Given the description of an element on the screen output the (x, y) to click on. 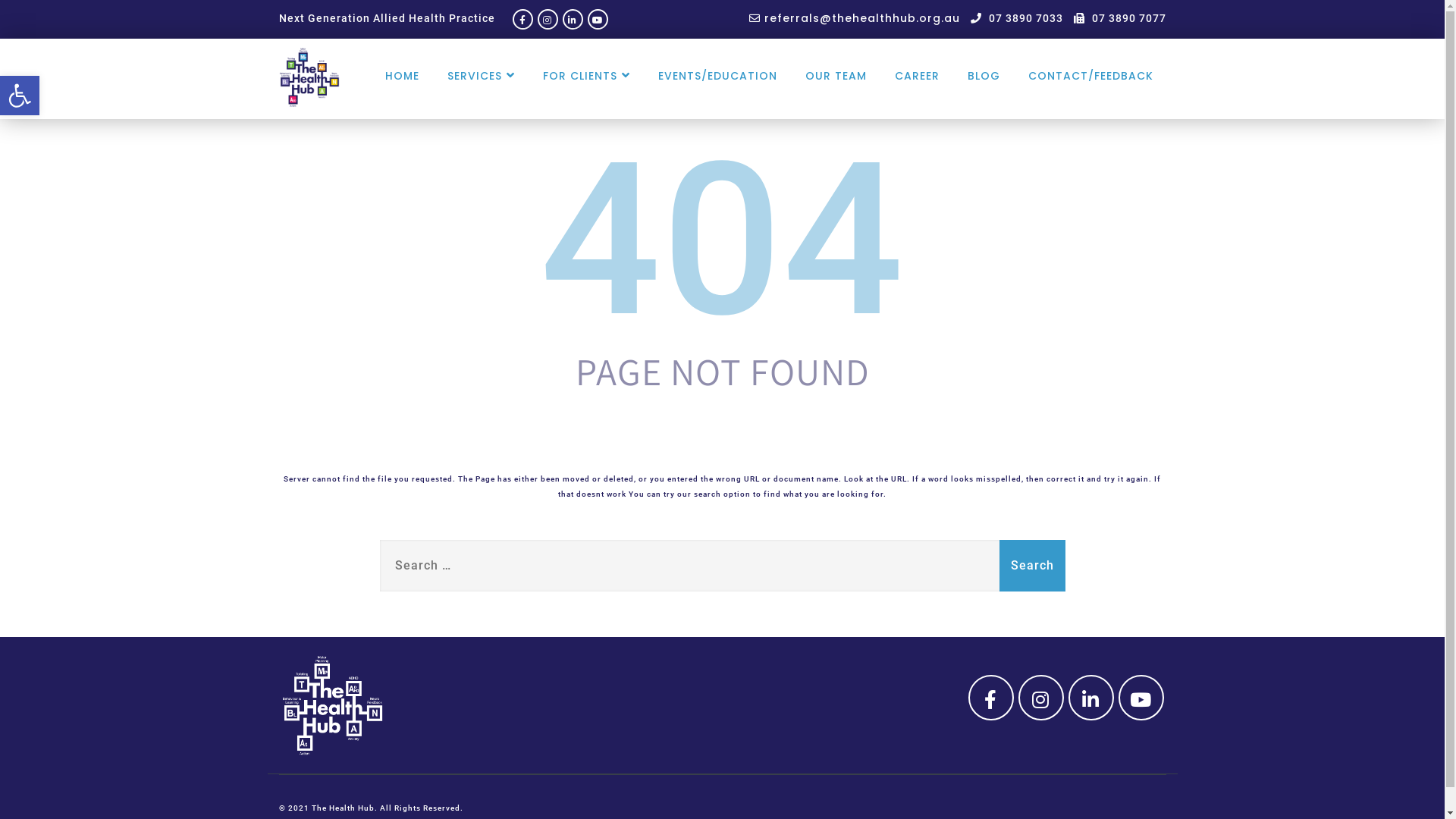
linkedin Element type: hover (572, 19)
FOR CLIENTS Element type: text (585, 74)
CONTACT/FEEDBACK Element type: text (1089, 75)
Open toolbar
Accessibility Tools Element type: text (19, 95)
BLOG Element type: text (982, 75)
404 Element type: text (721, 240)
youtube Element type: hover (596, 19)
youtube Element type: hover (1140, 697)
SERVICES Element type: text (480, 74)
instagram Element type: hover (1040, 697)
Search Element type: text (1032, 565)
facebook Element type: hover (522, 19)
EVENTS/EDUCATION Element type: text (716, 75)
instagram Element type: hover (546, 19)
 referrals@thehealthhub.org.au Element type: text (854, 17)
facebook Element type: hover (990, 697)
OUR TEAM Element type: text (834, 75)
HOME Element type: text (401, 75)
CAREER Element type: text (916, 75)
linkedin Element type: hover (1090, 697)
